Given the description of an element on the screen output the (x, y) to click on. 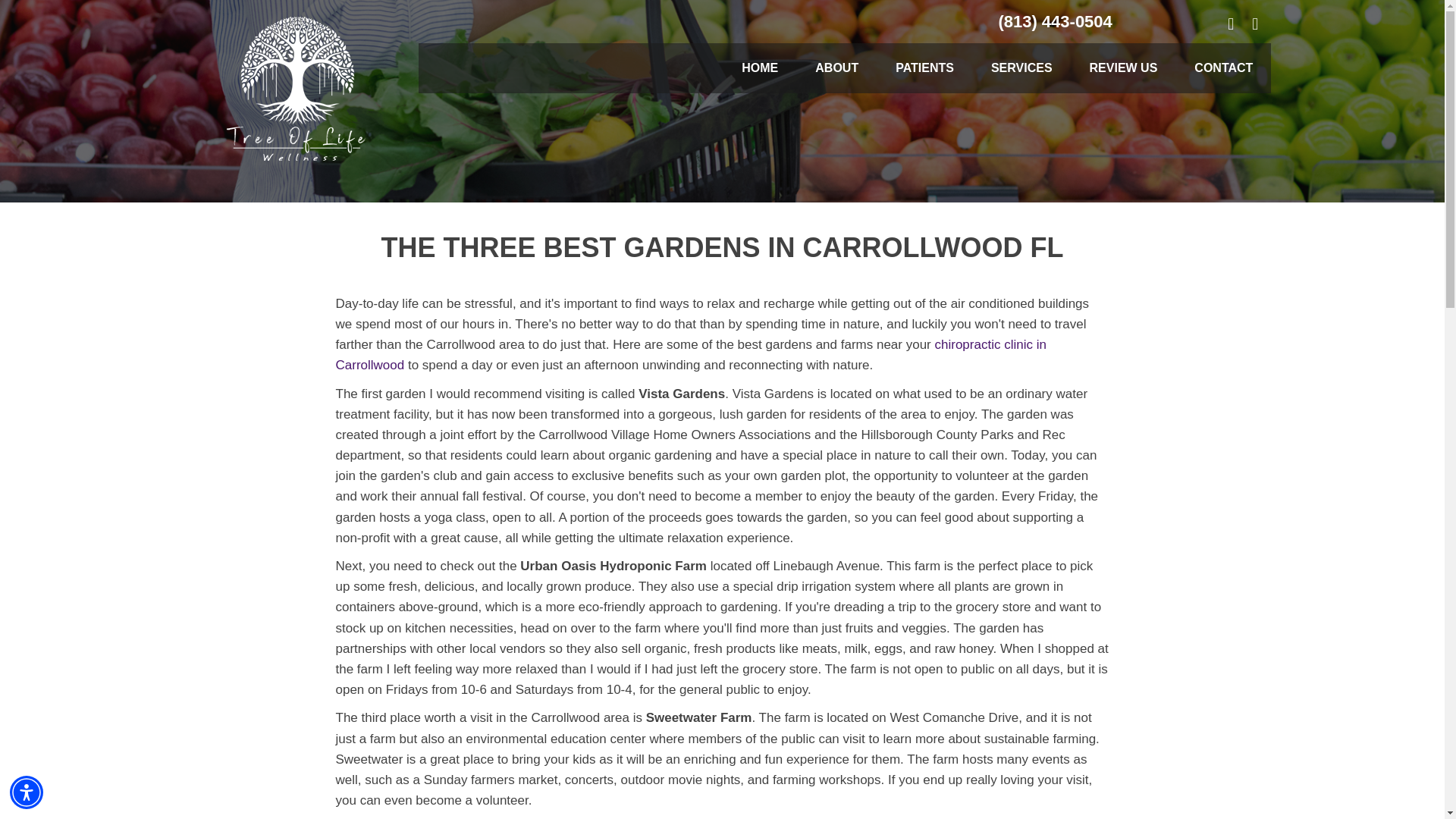
Accessibility Menu (26, 792)
SERVICES (1021, 68)
Chiropractic Carrollwood FL Tree of Life Wellness (296, 88)
HOME (759, 68)
PATIENTS (924, 68)
ABOUT (836, 68)
